Given the description of an element on the screen output the (x, y) to click on. 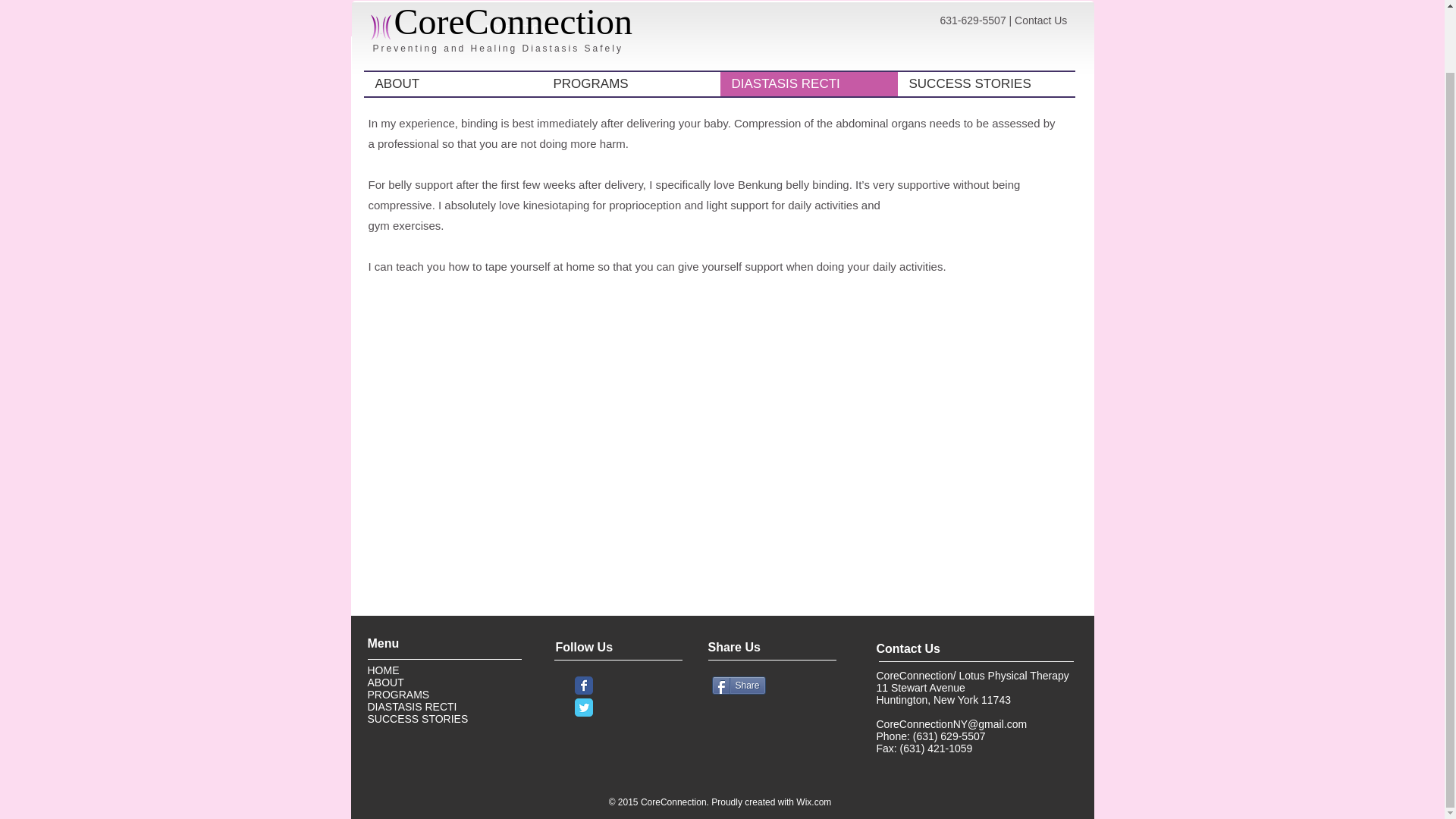
DIASTASIS RECTI (809, 15)
Share (738, 685)
Share (738, 685)
SUCCESS STORIES (986, 15)
PROGRAMS (630, 15)
DIASTASIS RECTI  (413, 706)
ABOUT (452, 15)
PROGRAMS  (399, 694)
Wix.com (813, 801)
SUCCESS STORIES (416, 718)
ABOUT (384, 682)
